Given the description of an element on the screen output the (x, y) to click on. 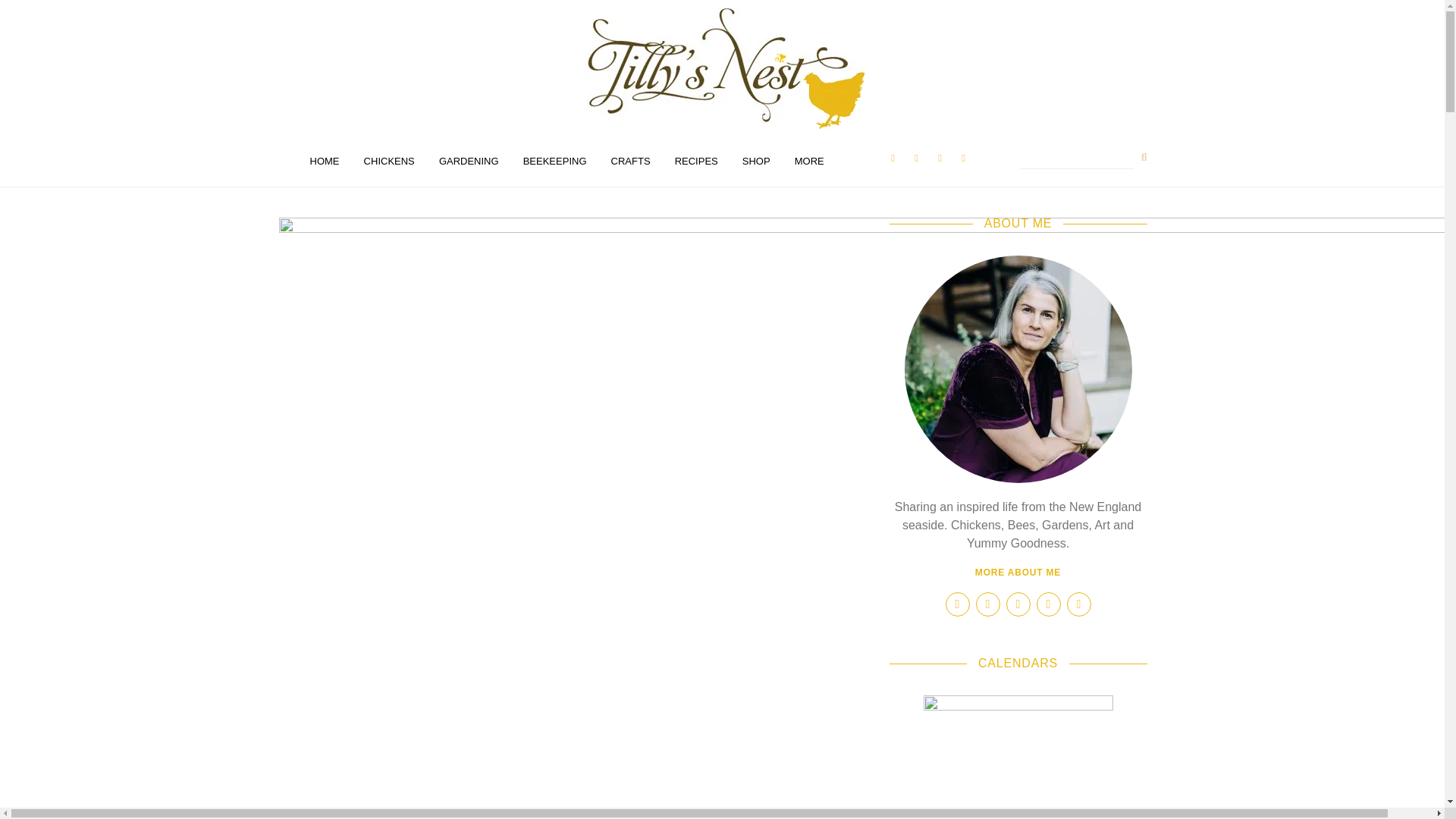
HOME (323, 161)
CHICKENS (389, 161)
CRAFTS (630, 161)
BEEKEEPING (554, 161)
GARDENING (468, 161)
